Given the description of an element on the screen output the (x, y) to click on. 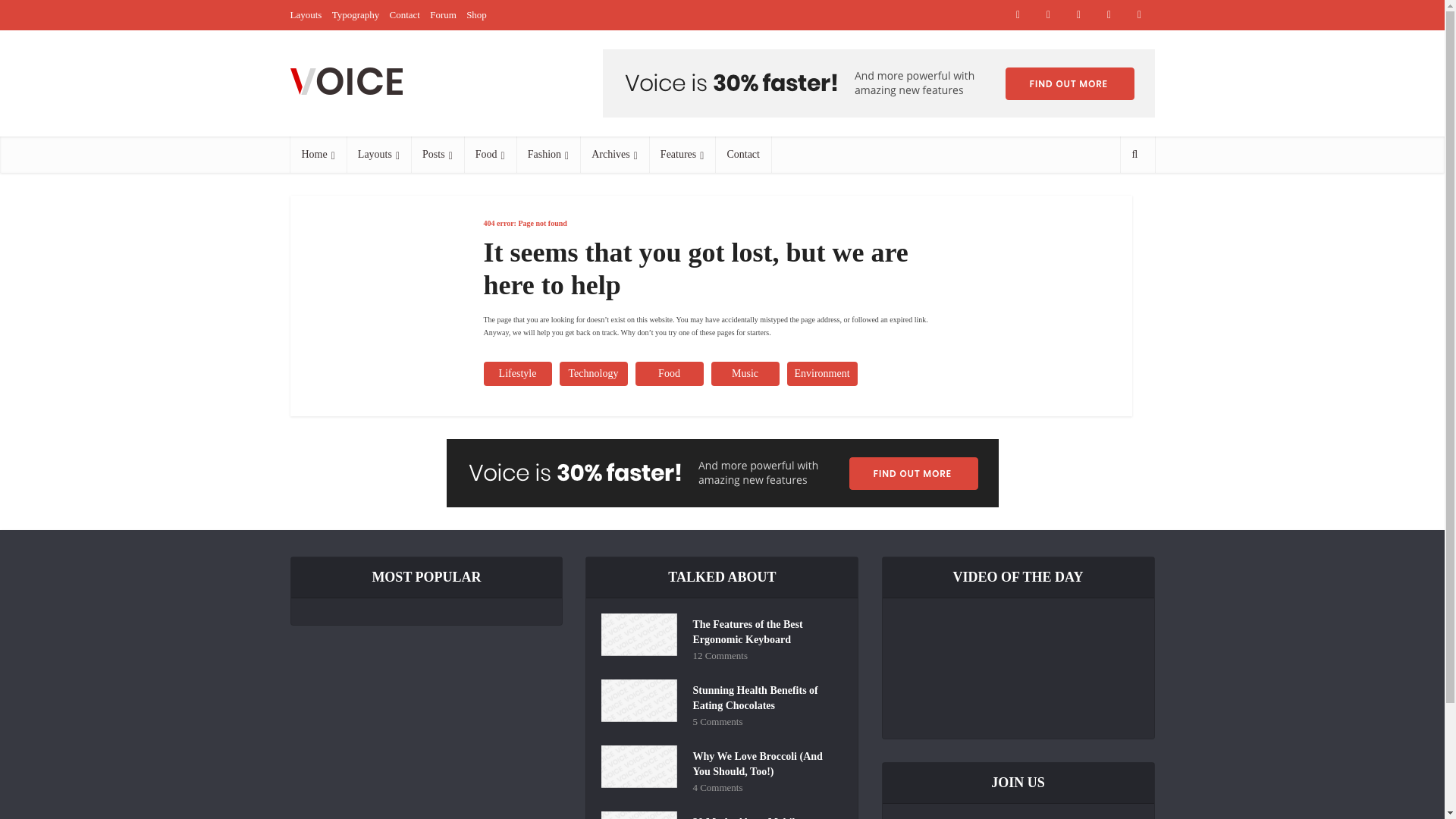
Stunning Health Benefits of Eating Chocolates (764, 696)
Layouts (305, 14)
Shop (475, 14)
Forum (443, 14)
Typography (355, 14)
Posts (437, 154)
20 Myths About Mobile Devices (764, 815)
Contact (405, 14)
The Features of the Best Ergonomic Keyboard (764, 630)
Home (317, 154)
